Given the description of an element on the screen output the (x, y) to click on. 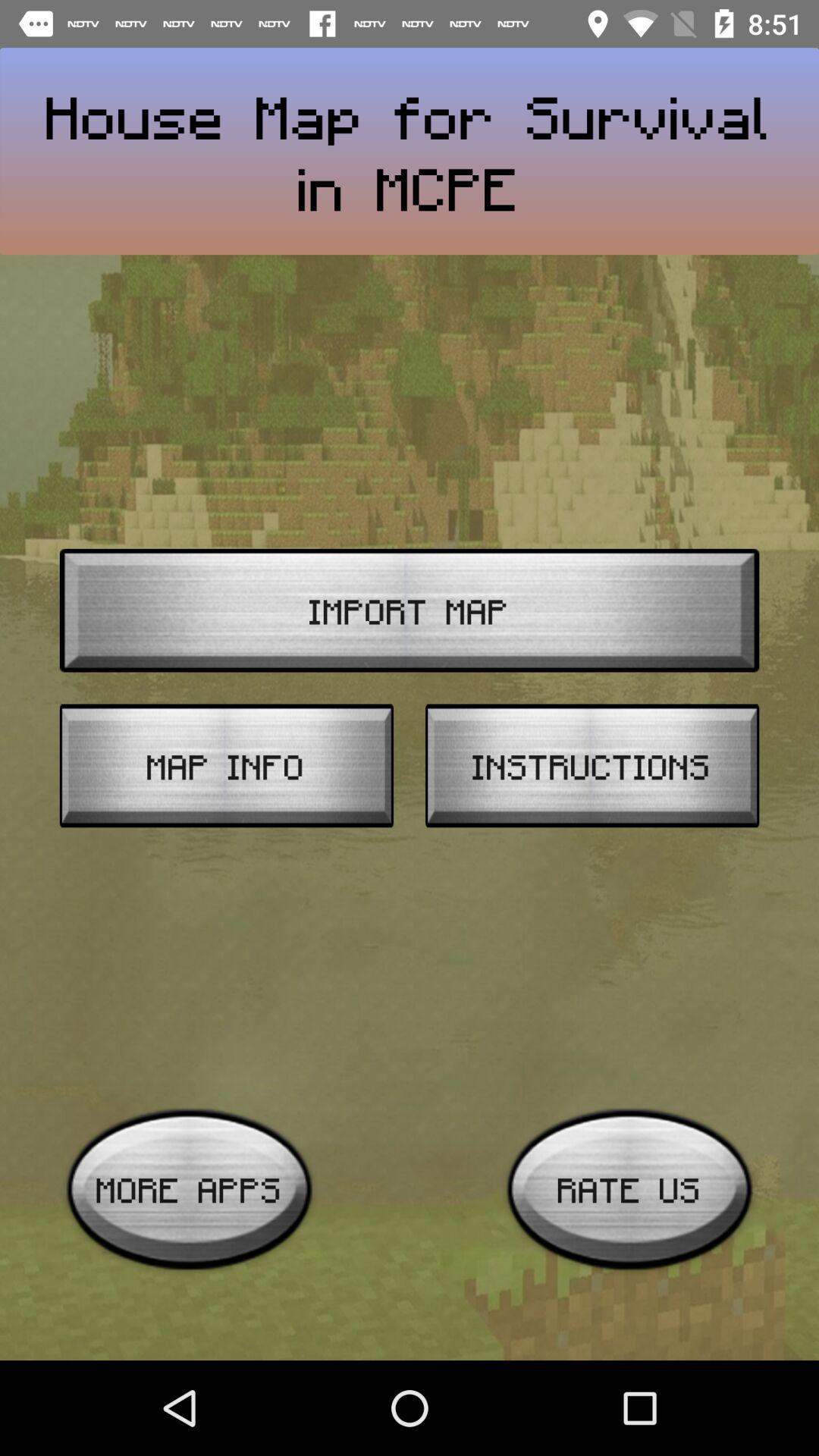
jump to instructions (592, 765)
